Given the description of an element on the screen output the (x, y) to click on. 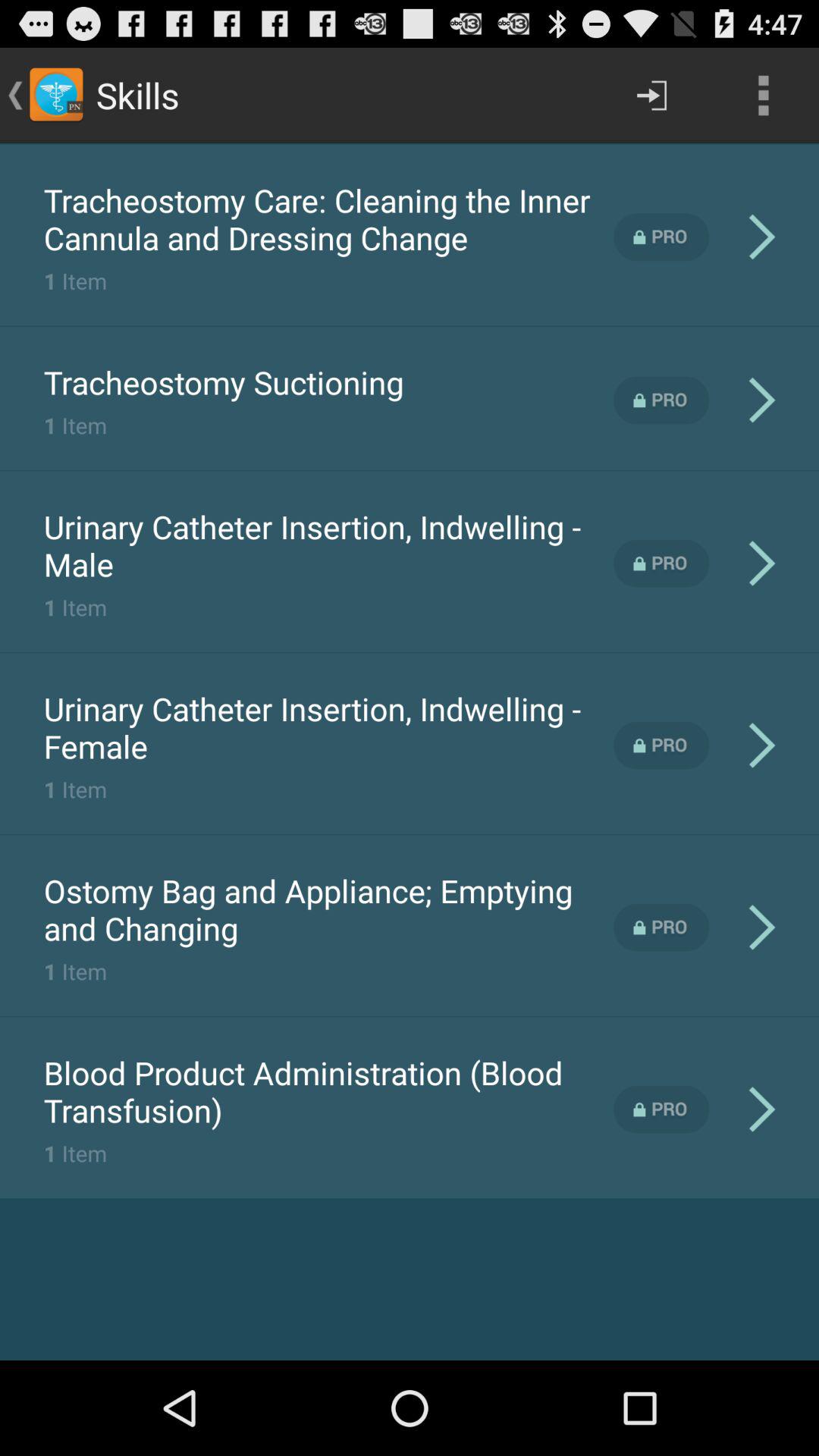
press the blood product administration (328, 1091)
